Given the description of an element on the screen output the (x, y) to click on. 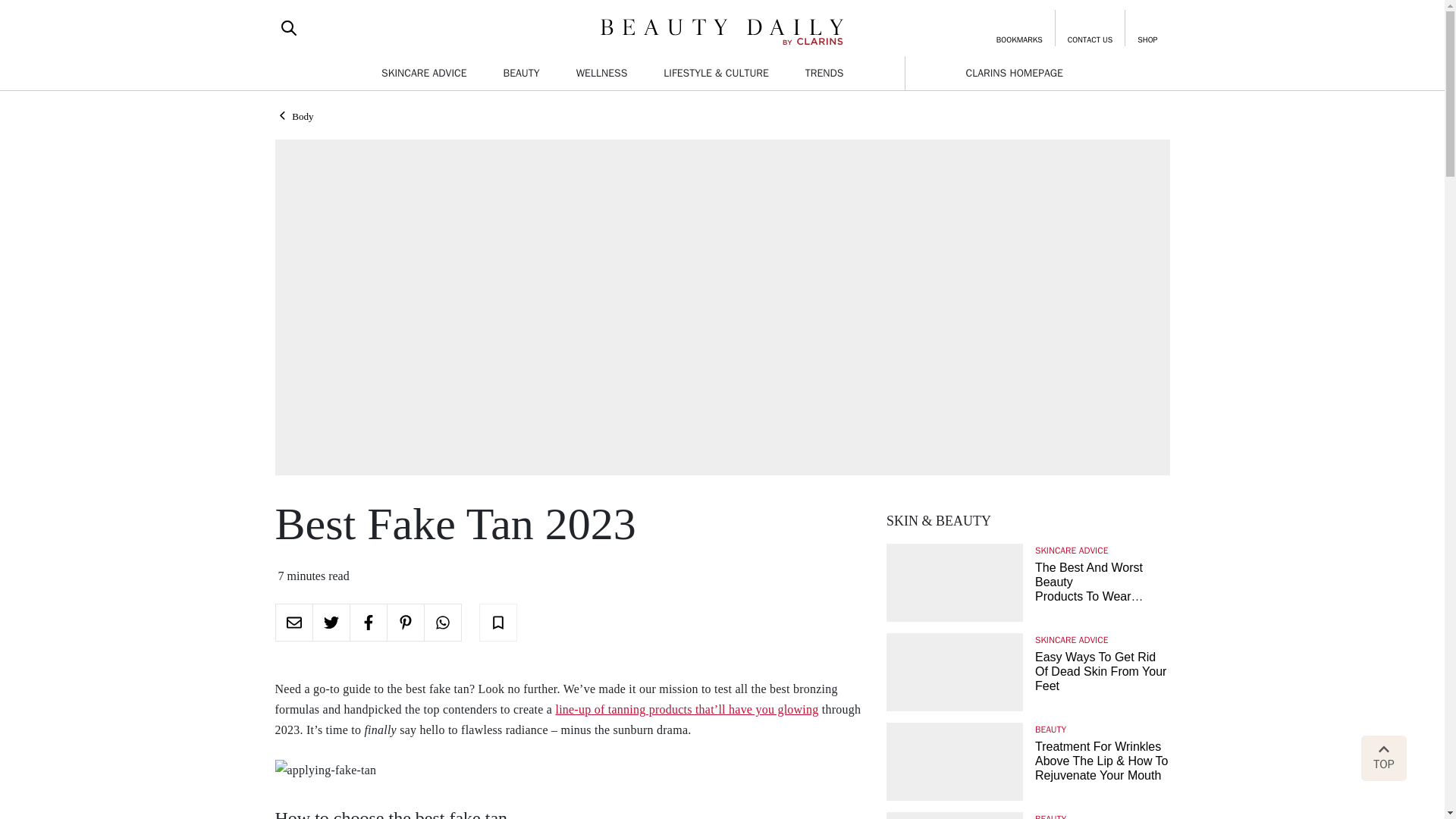
Add to your bookmarks (497, 622)
BOOKMARKS (1018, 27)
CONTACT US (1090, 27)
